Given the description of an element on the screen output the (x, y) to click on. 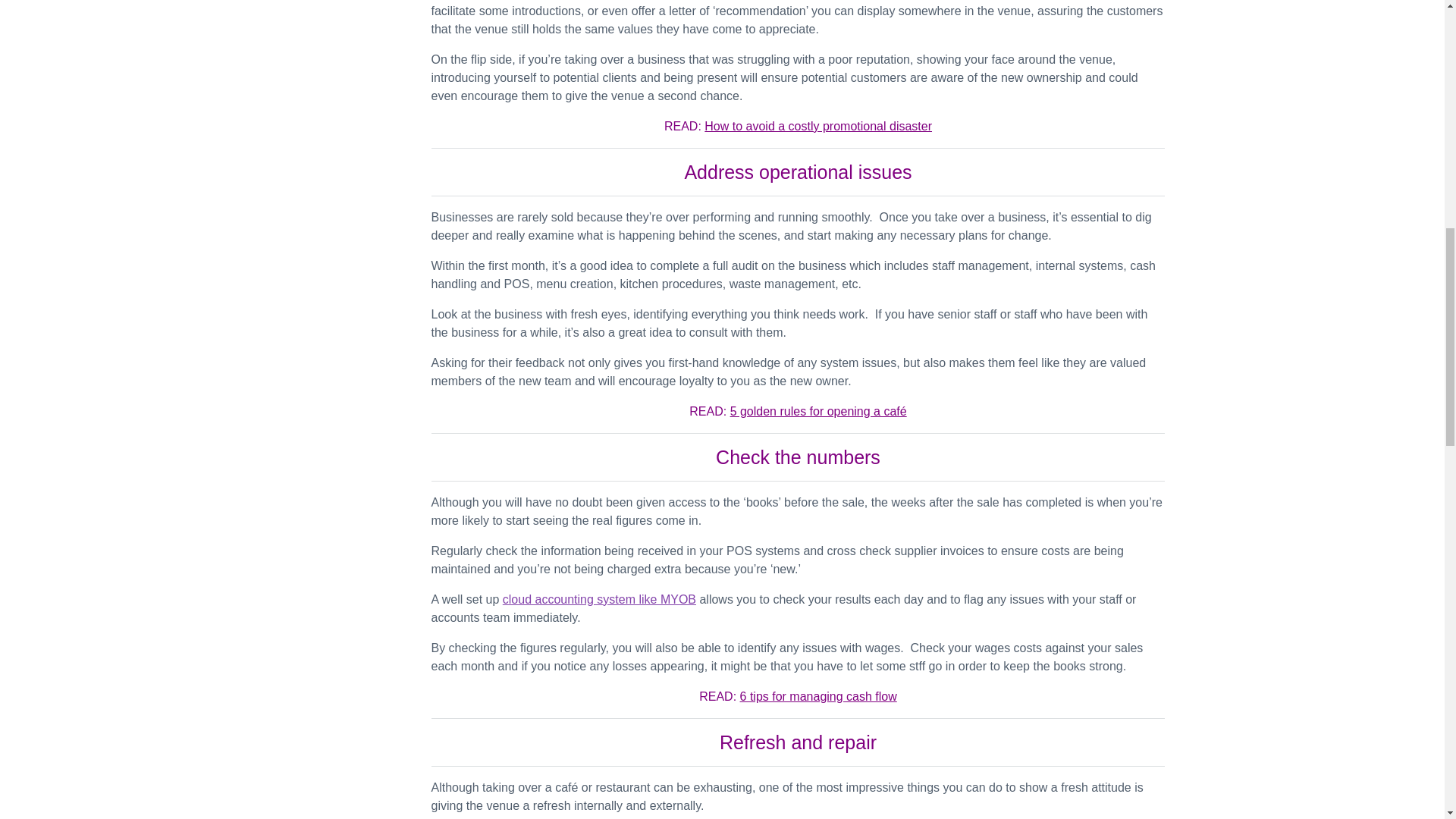
cloud accounting system like MYOB (598, 599)
6 tips for managing cash flow (817, 696)
How to avoid a costly promotional disaster (817, 125)
